Given the description of an element on the screen output the (x, y) to click on. 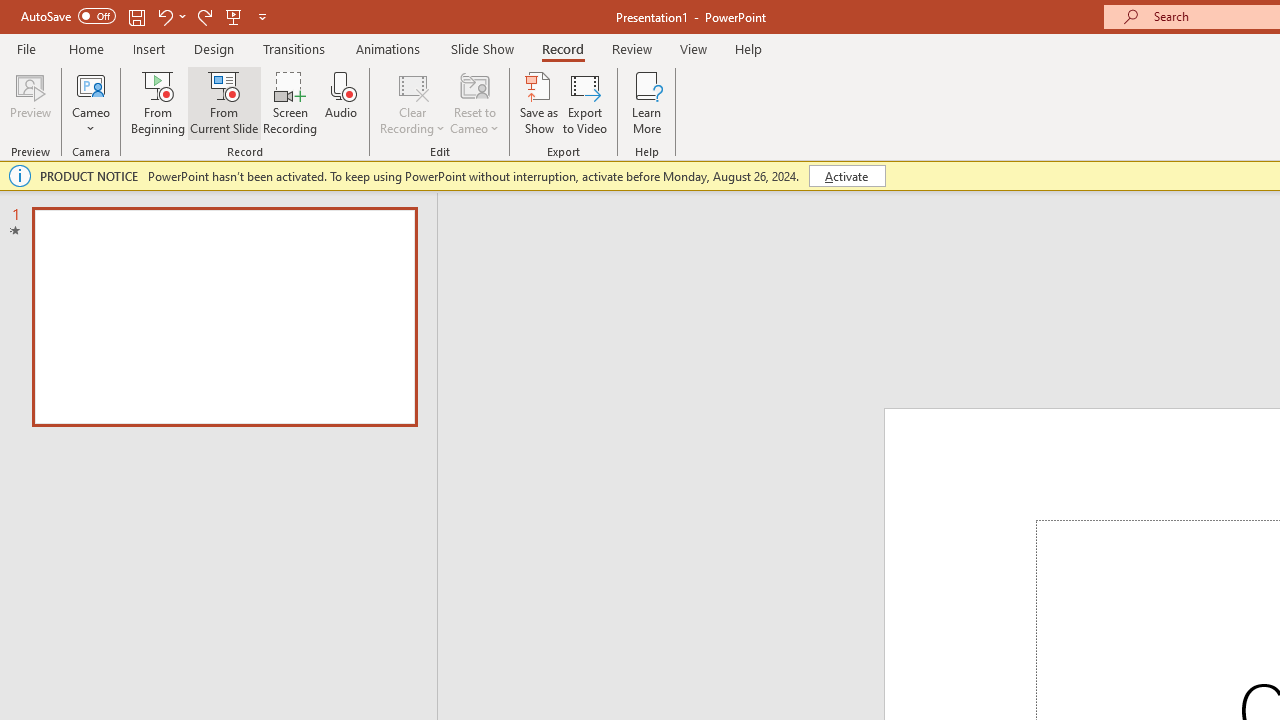
Activate (846, 175)
Learn More (646, 102)
Clear Recording (412, 102)
